Given the description of an element on the screen output the (x, y) to click on. 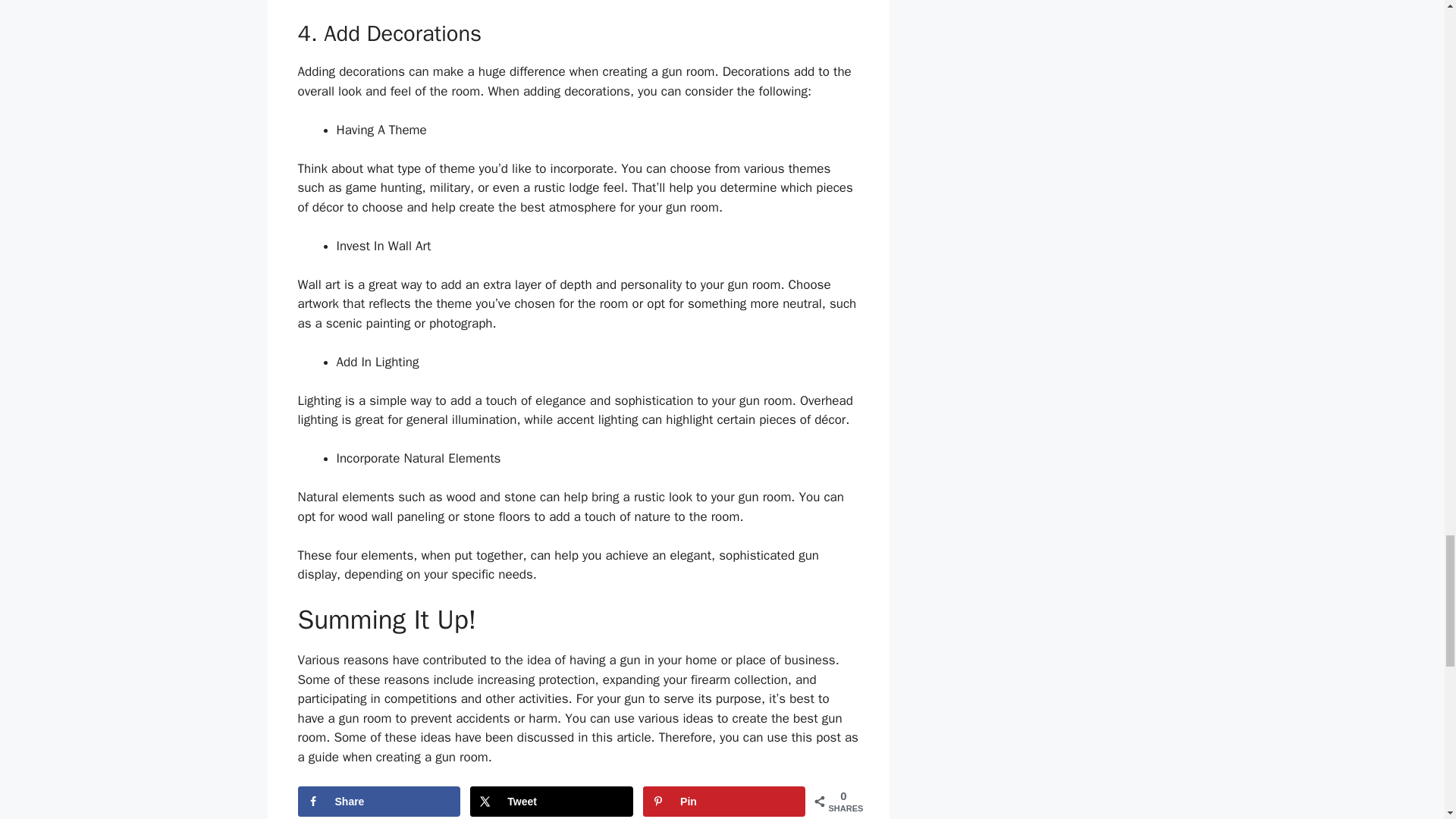
Pin (724, 801)
Share on Facebook (378, 801)
Share on X (550, 801)
Save to Pinterest (724, 801)
Tweet (550, 801)
Share (378, 801)
